Given the description of an element on the screen output the (x, y) to click on. 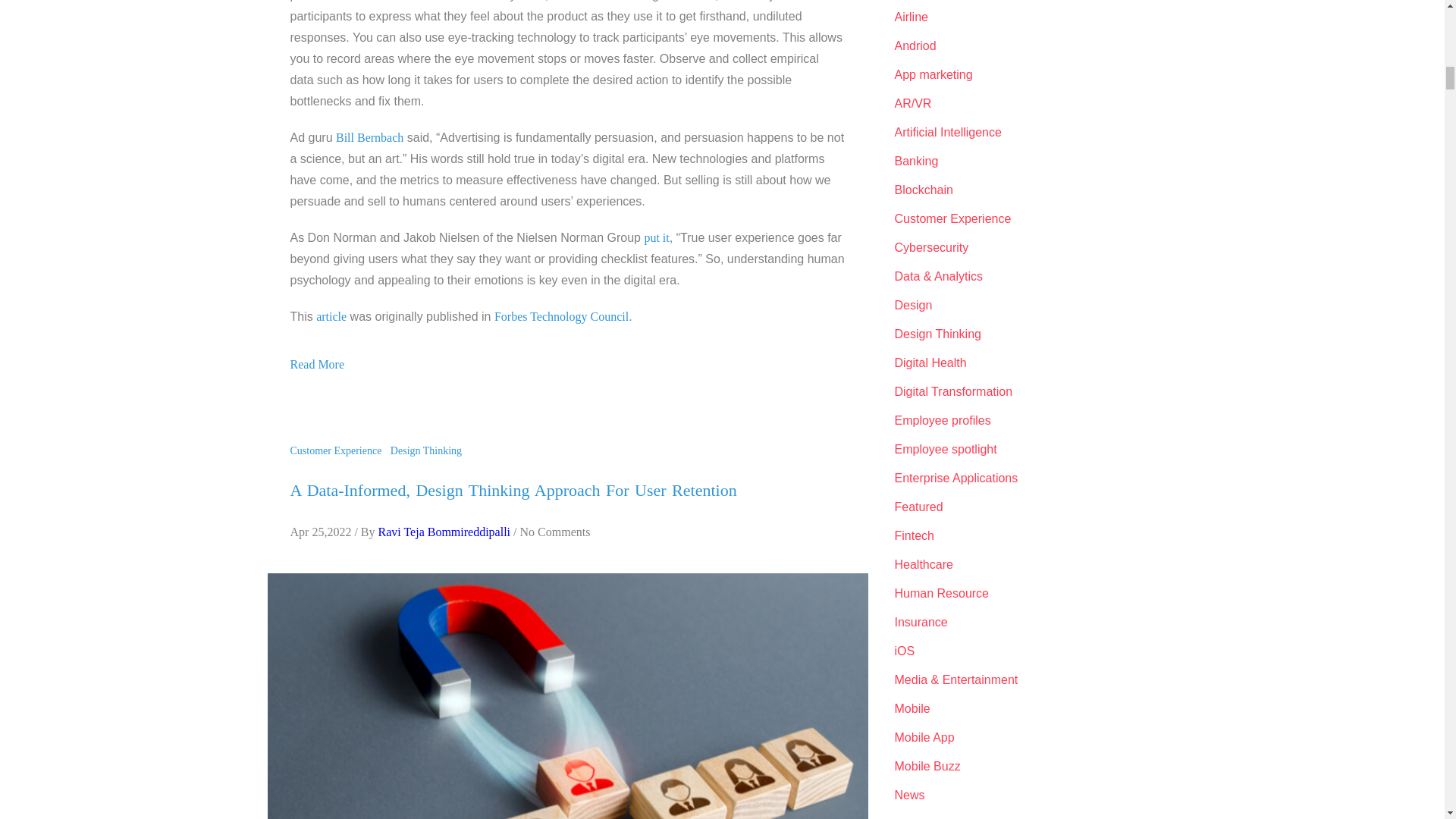
article (330, 315)
Forbes Technology Council (561, 315)
Posts by Ravi Teja Bommireddipalli (444, 530)
put it (655, 236)
A Data-Informed, Design Thinking Approach For User Retention (512, 489)
Ravi Teja Bommireddipalli (444, 530)
Design Thinking (428, 450)
Read More (316, 363)
Bill Bernbach (369, 136)
Customer Experience (338, 450)
